Given the description of an element on the screen output the (x, y) to click on. 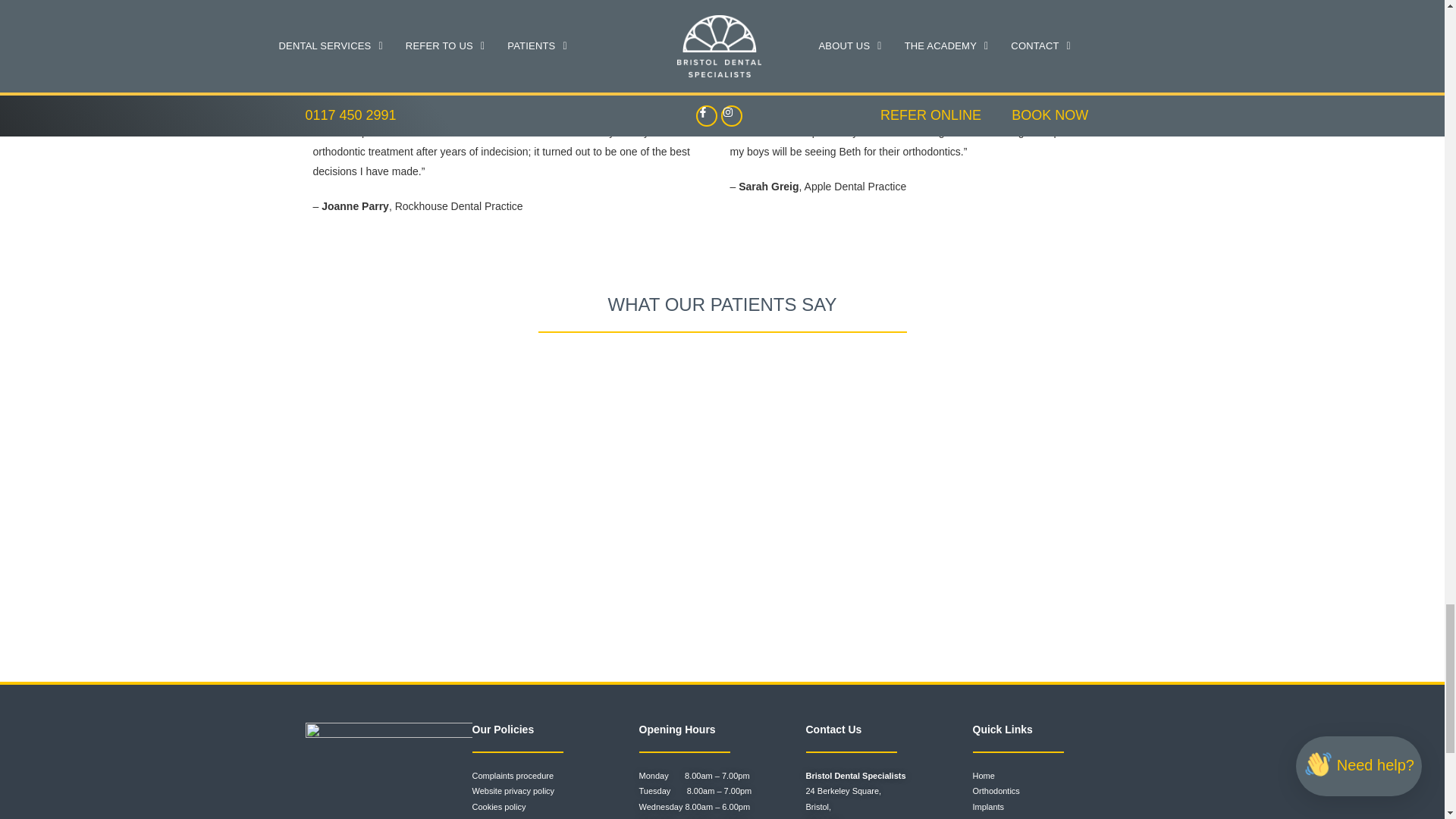
qoutation image (778, 56)
qoutation image (361, 56)
